Given the description of an element on the screen output the (x, y) to click on. 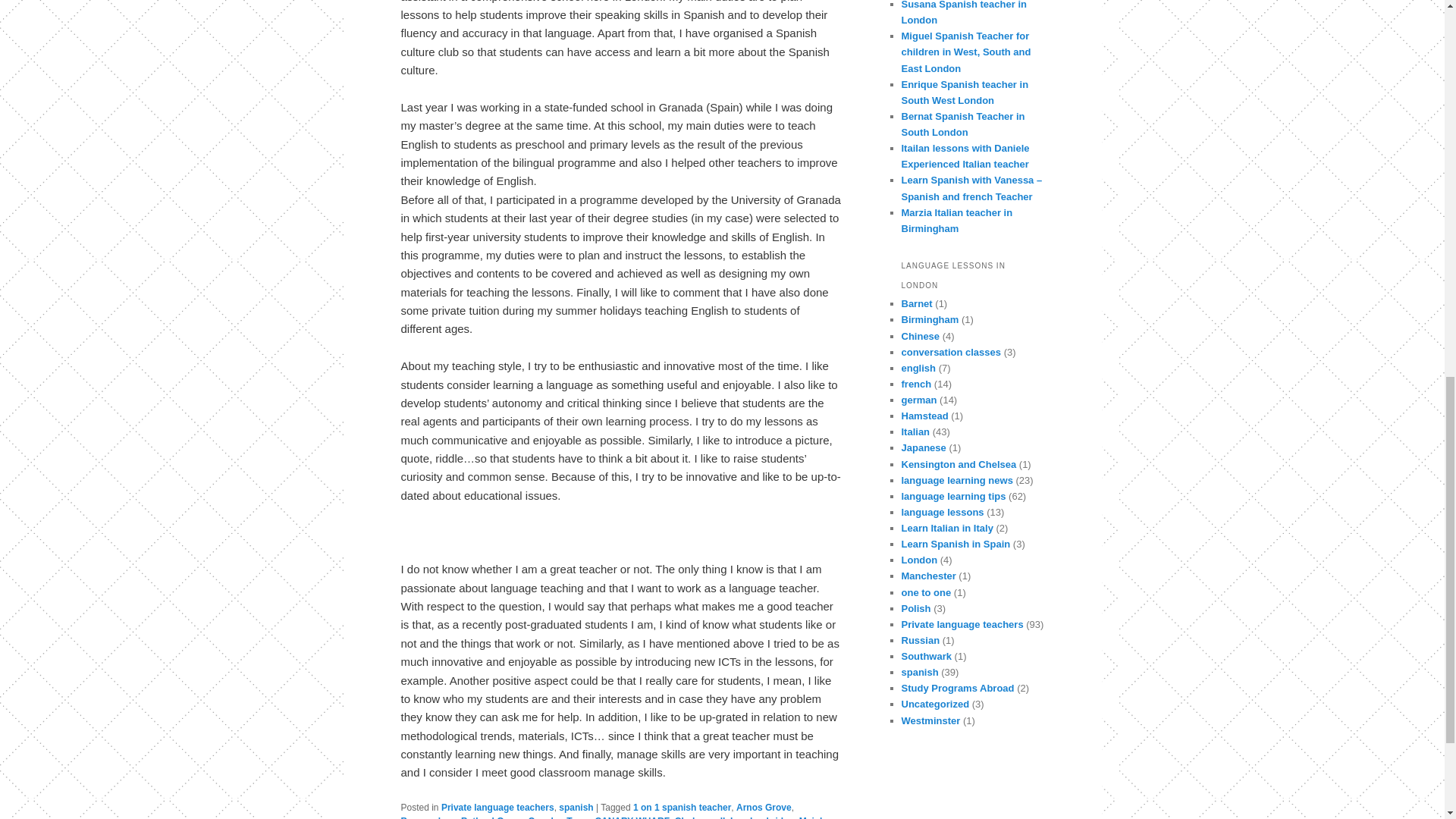
Bermondsey (427, 817)
spanish (575, 807)
Bethnal Green (491, 817)
London bridge (761, 817)
1 on 1 spanish teacher (681, 807)
Arnos Grove (764, 807)
Private language teachers (497, 807)
Camden Town (558, 817)
CANARY WHARF (631, 817)
Clerkenwell (700, 817)
